Given the description of an element on the screen output the (x, y) to click on. 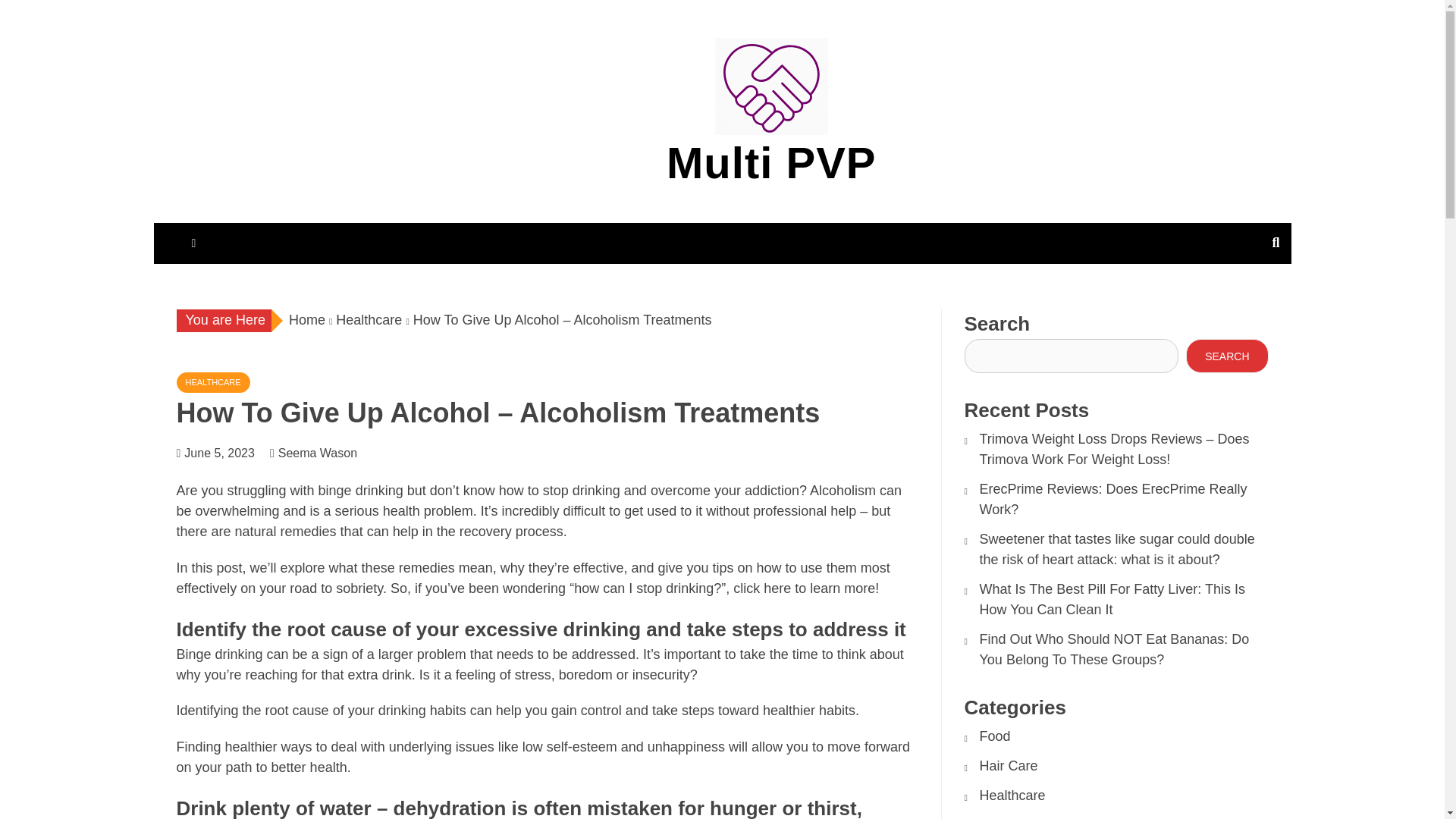
Healthcare (1012, 795)
Multi PVP (771, 162)
Healthcare (368, 319)
June 5, 2023 (219, 452)
Food (994, 735)
SEARCH (1227, 356)
Home (306, 319)
Seema Wason (325, 452)
Joint Pain (1009, 818)
ErecPrime Reviews: Does ErecPrime Really Work? (1113, 498)
HEALTHCARE (212, 382)
Hair Care (1008, 765)
